Given the description of an element on the screen output the (x, y) to click on. 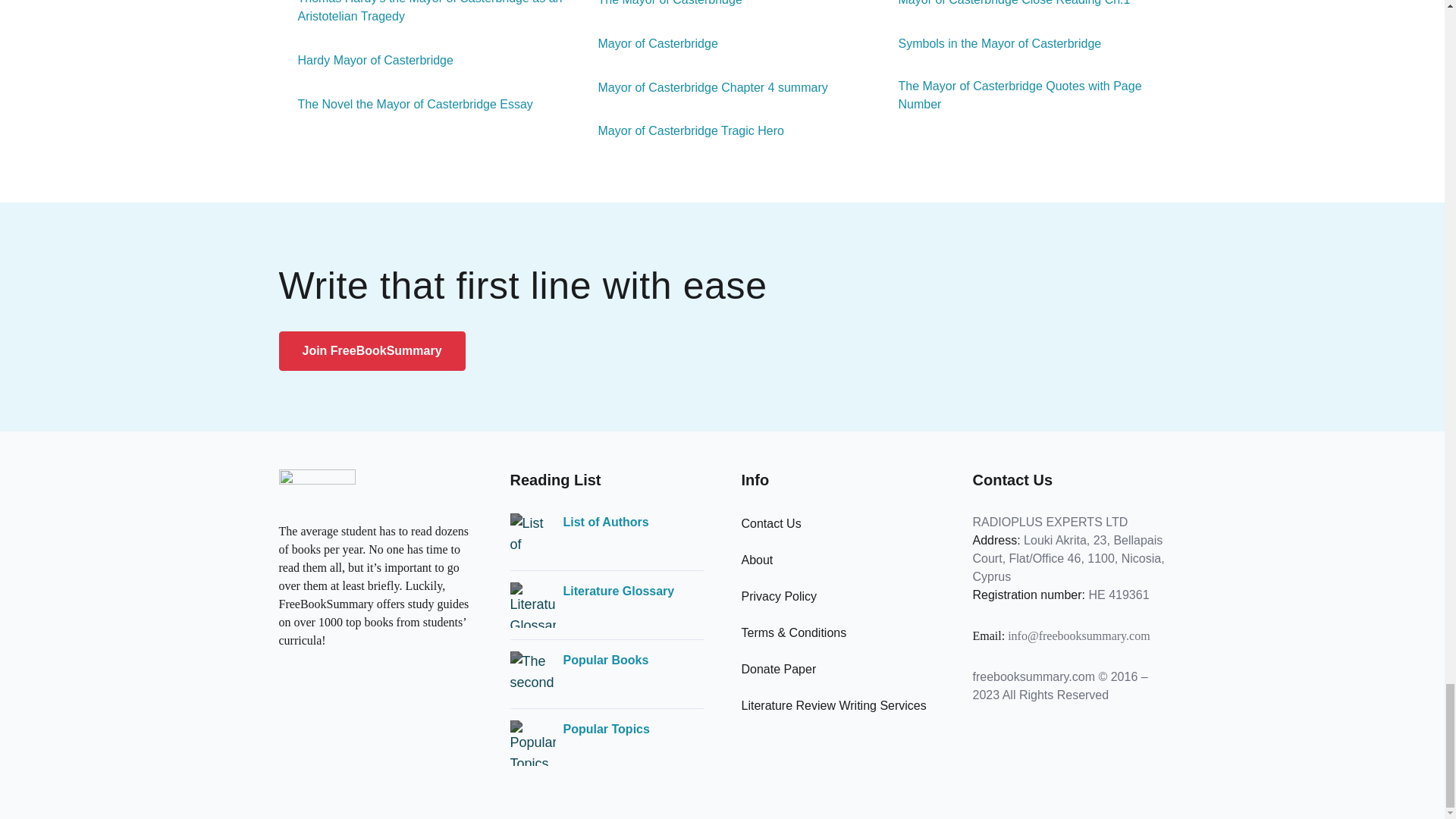
Hardy Mayor of Casterbridge (365, 60)
About (757, 559)
List of Authors (604, 522)
Popular Books (604, 660)
Mayor of Casterbridge Chapter 4 summary (703, 87)
Popular Topics (605, 729)
The Novel the Mayor of Casterbridge Essay (405, 104)
Mayor of Casterbridge Close Reading Ch.1 (1005, 4)
Symbols in the Mayor of Casterbridge (990, 44)
